Given the description of an element on the screen output the (x, y) to click on. 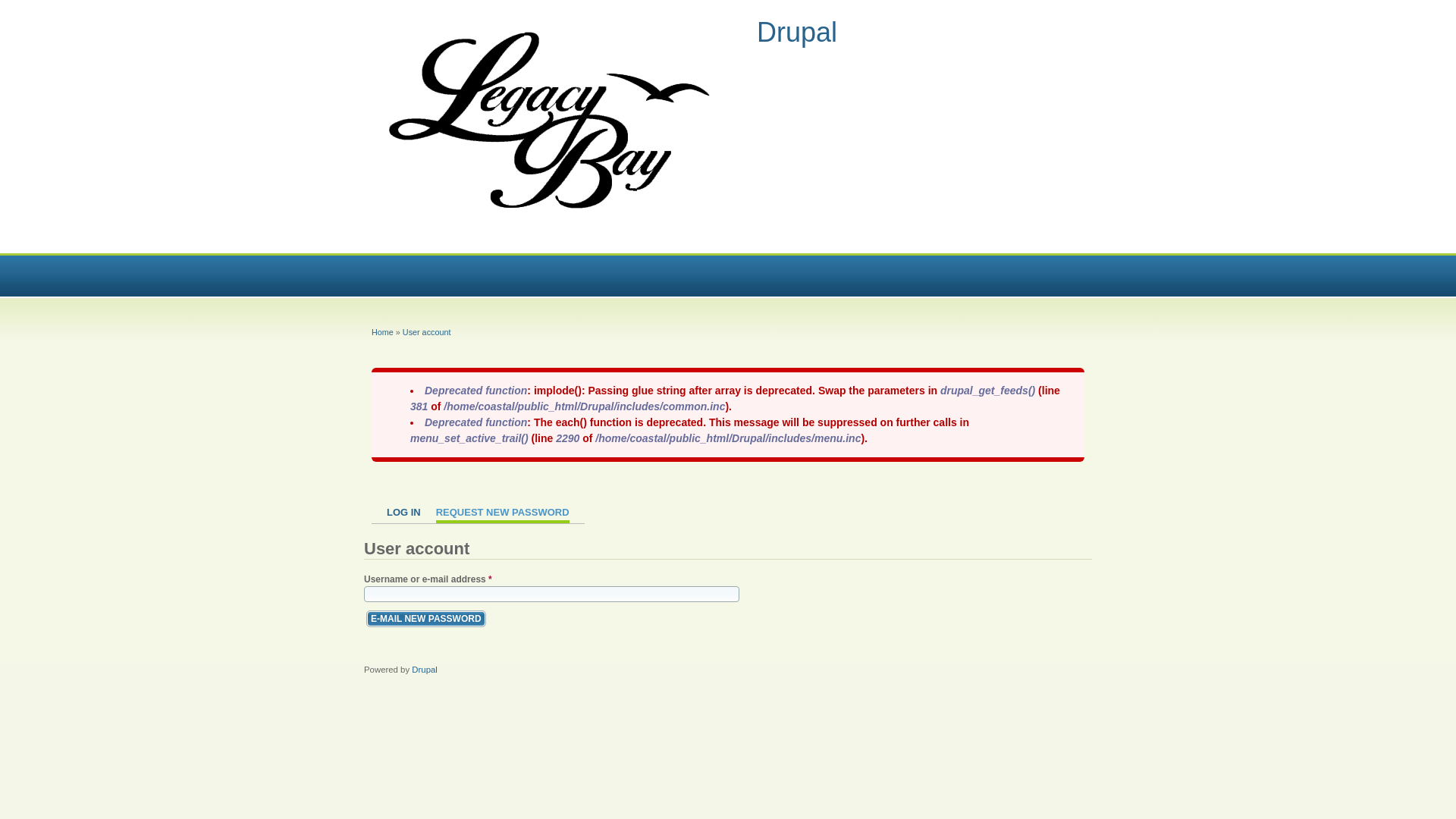
Drupal Element type: text (424, 669)
User account Element type: text (426, 331)
Home Element type: hover (554, 230)
Drupal Element type: text (796, 31)
LOG IN Element type: text (403, 514)
Home Element type: text (382, 331)
E-mail new password Element type: text (426, 618)
REQUEST NEW PASSWORD
(ACTIVE TAB) Element type: text (502, 514)
